Given the description of an element on the screen output the (x, y) to click on. 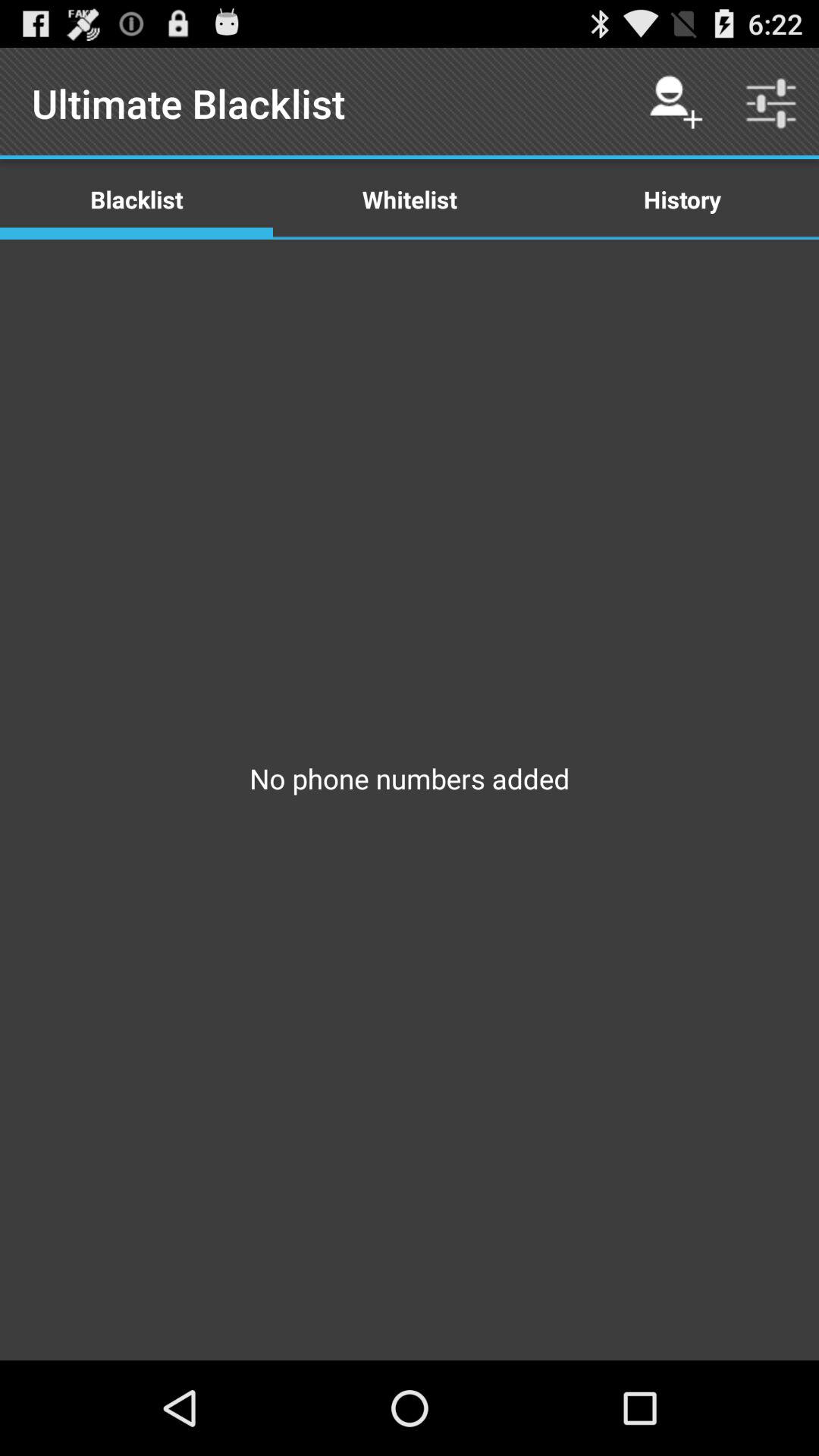
click icon to the right of the whitelist icon (682, 199)
